Given the description of an element on the screen output the (x, y) to click on. 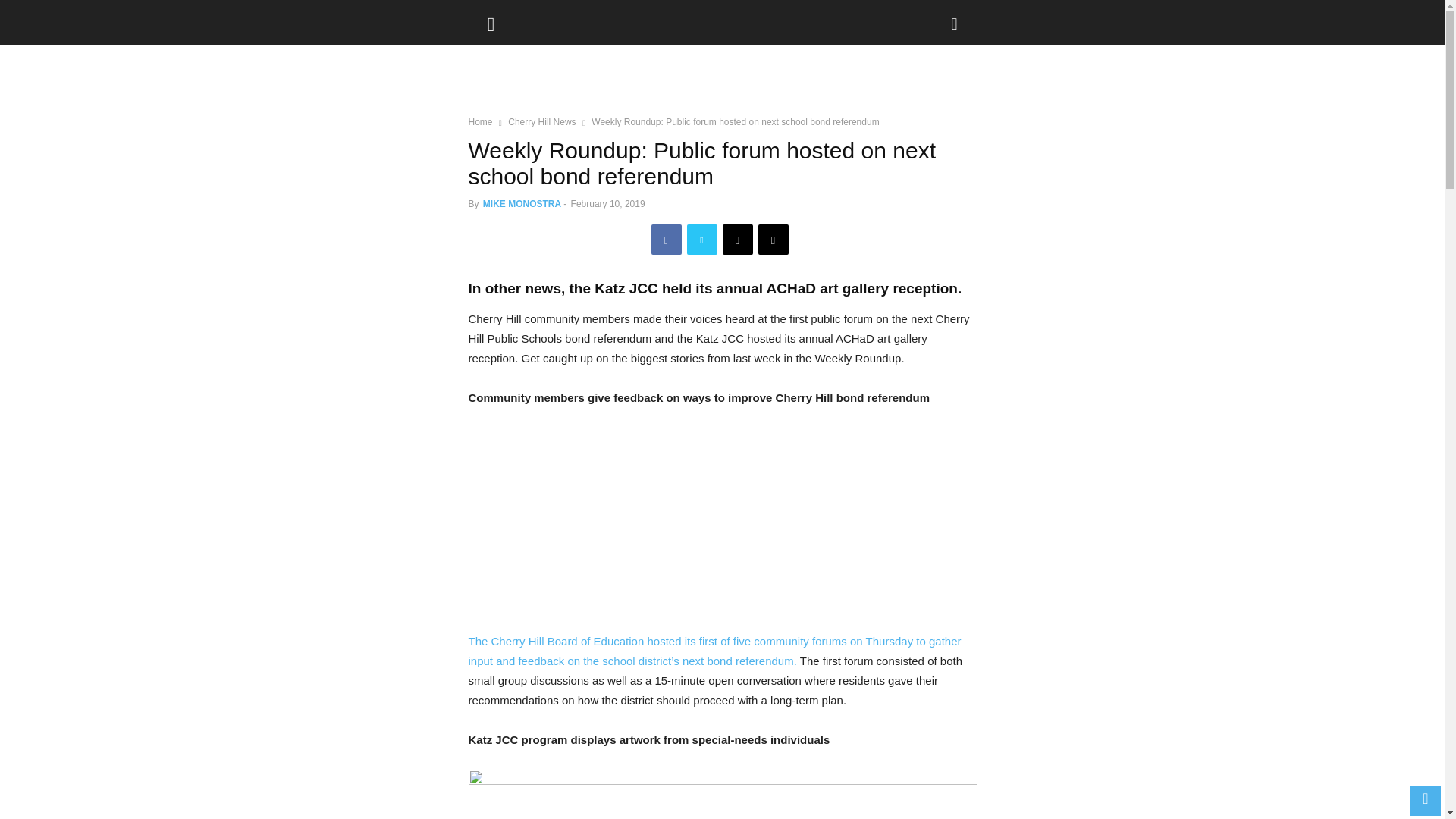
Facebook (665, 239)
Cherry Hill News (541, 122)
MIKE MONOSTRA (521, 204)
Print (773, 239)
View all posts in Cherry Hill News (541, 122)
Home (480, 122)
Email (737, 239)
Twitter (702, 239)
